Given the description of an element on the screen output the (x, y) to click on. 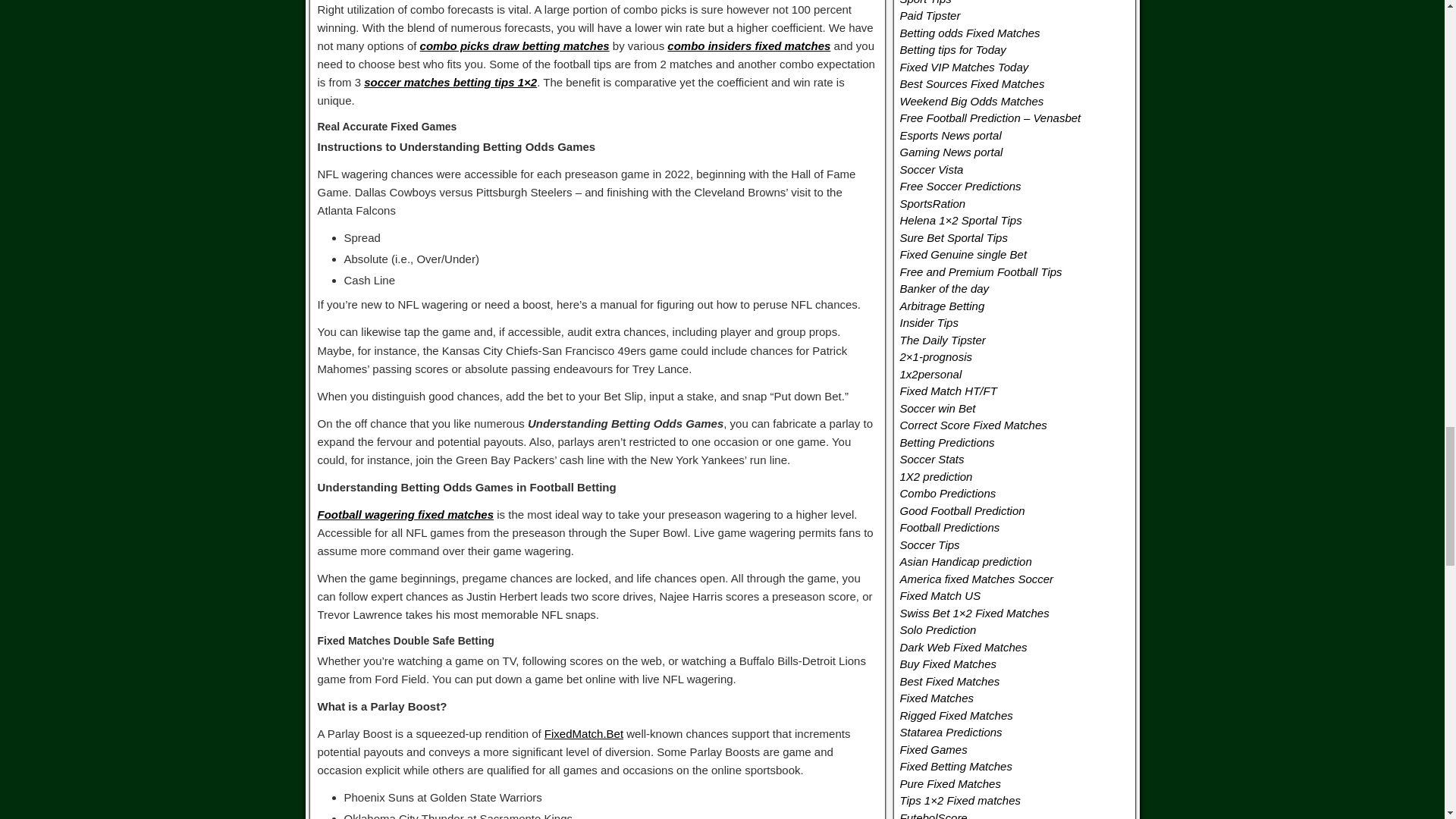
FixedMatch.Bet (583, 733)
Football wagering fixed matches (405, 513)
combo picks draw betting matches (515, 45)
combo insiders fixed matches (747, 45)
